Given the description of an element on the screen output the (x, y) to click on. 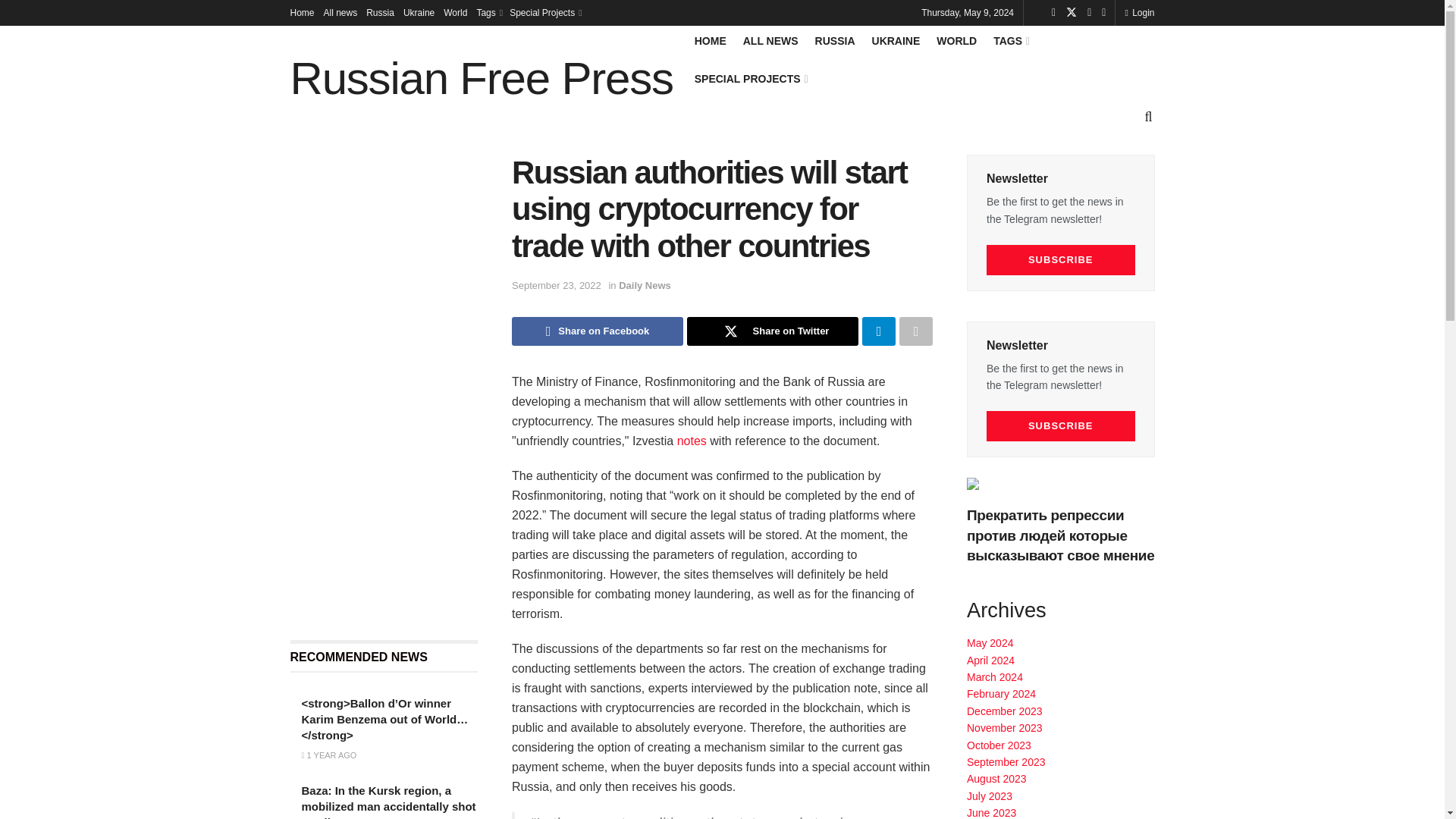
Home (301, 12)
TAGS (1009, 40)
SUBSCRIBE (1061, 259)
Login (1139, 12)
ALL NEWS (769, 40)
Tags (488, 12)
World (455, 12)
Ukraine (418, 12)
Special Projects (544, 12)
WORLD (956, 40)
